Given the description of an element on the screen output the (x, y) to click on. 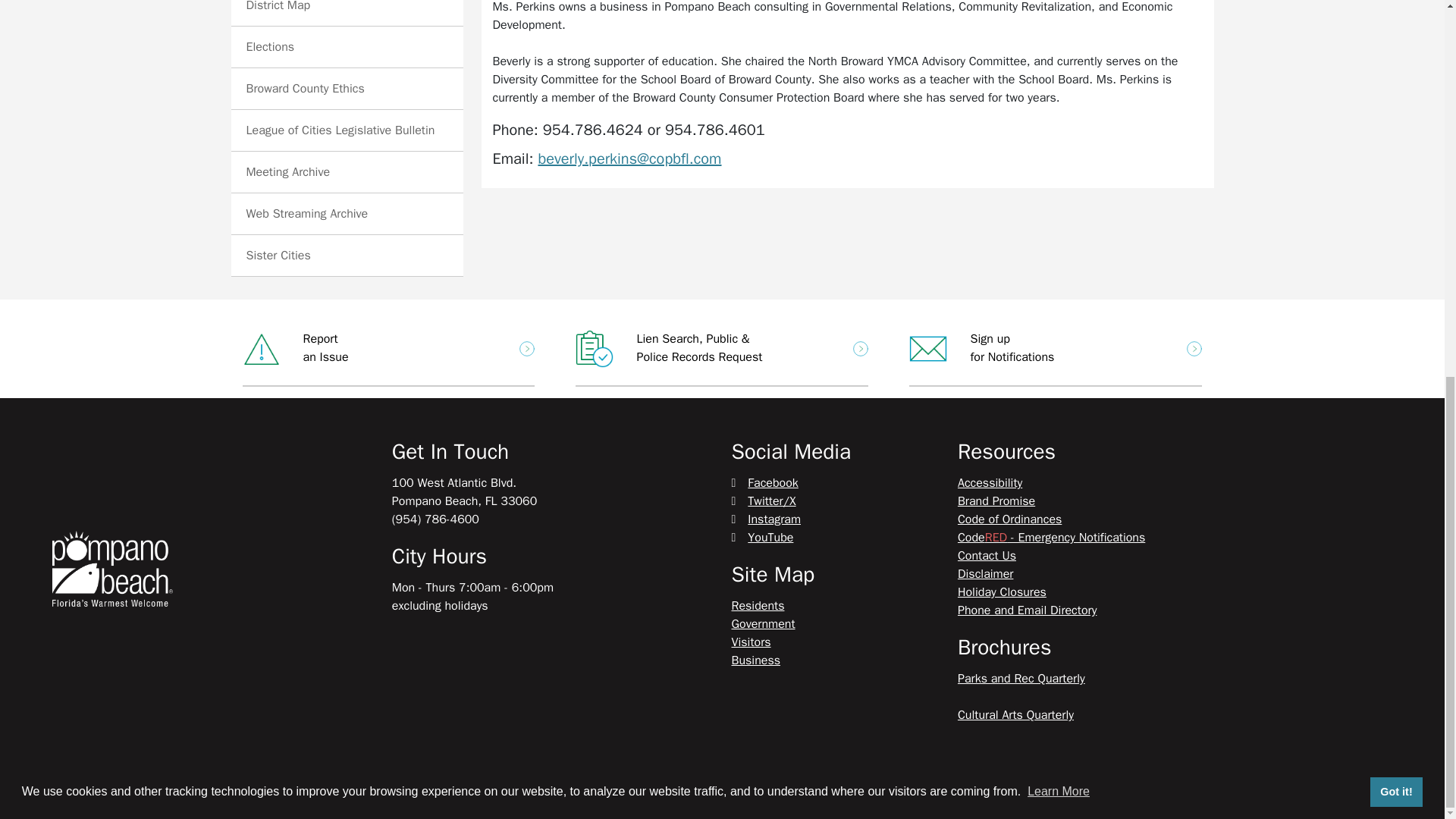
Broward County Ethics (305, 88)
Facebook (763, 482)
Elections (270, 46)
Learn More (1058, 94)
Sister Cities (278, 255)
YouTube (761, 537)
League of Cities Legislative Bulletin (339, 130)
Instagram (1055, 348)
Web Streaming Archive (765, 519)
District Map (307, 213)
Meeting Archive (278, 6)
Got it! (389, 348)
